Given the description of an element on the screen output the (x, y) to click on. 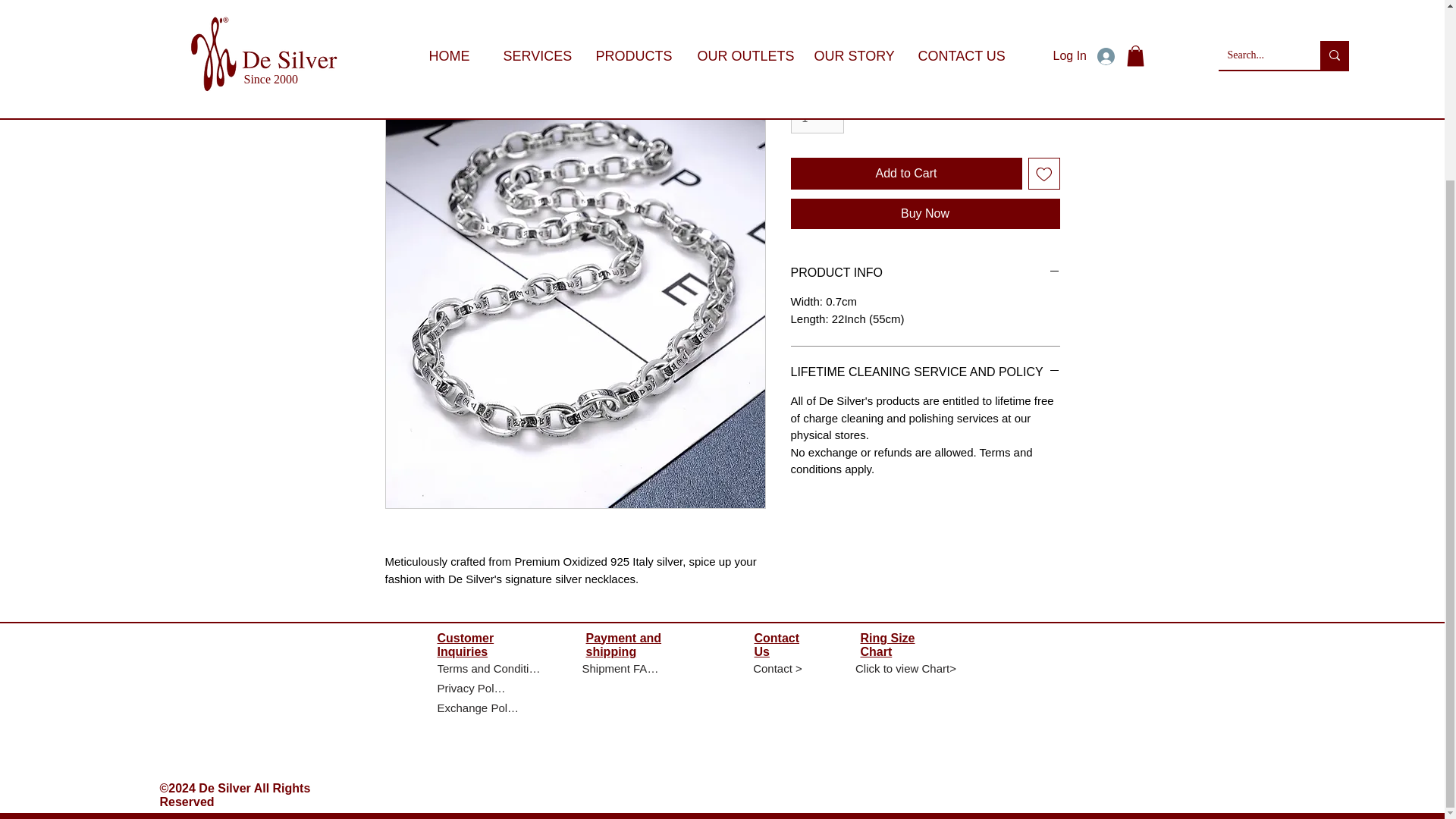
PRODUCT INFO (924, 272)
1 (817, 118)
LIFETIME CLEANING SERVICE AND POLICY (924, 372)
Add to Cart (906, 173)
Buy Now (924, 214)
